Given the description of an element on the screen output the (x, y) to click on. 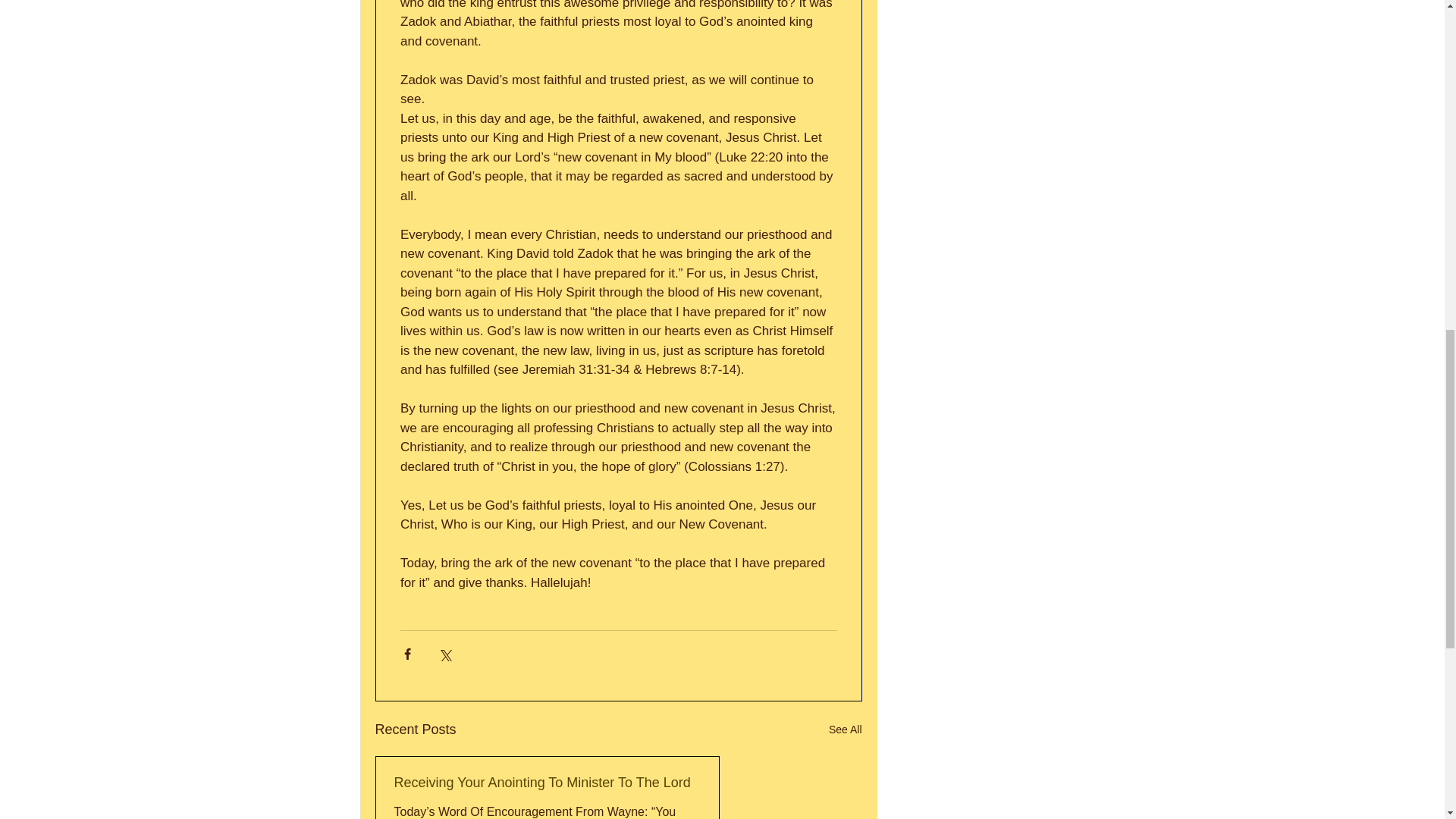
See All (844, 730)
Receiving Your Anointing To Minister To The Lord (547, 782)
